Given the description of an element on the screen output the (x, y) to click on. 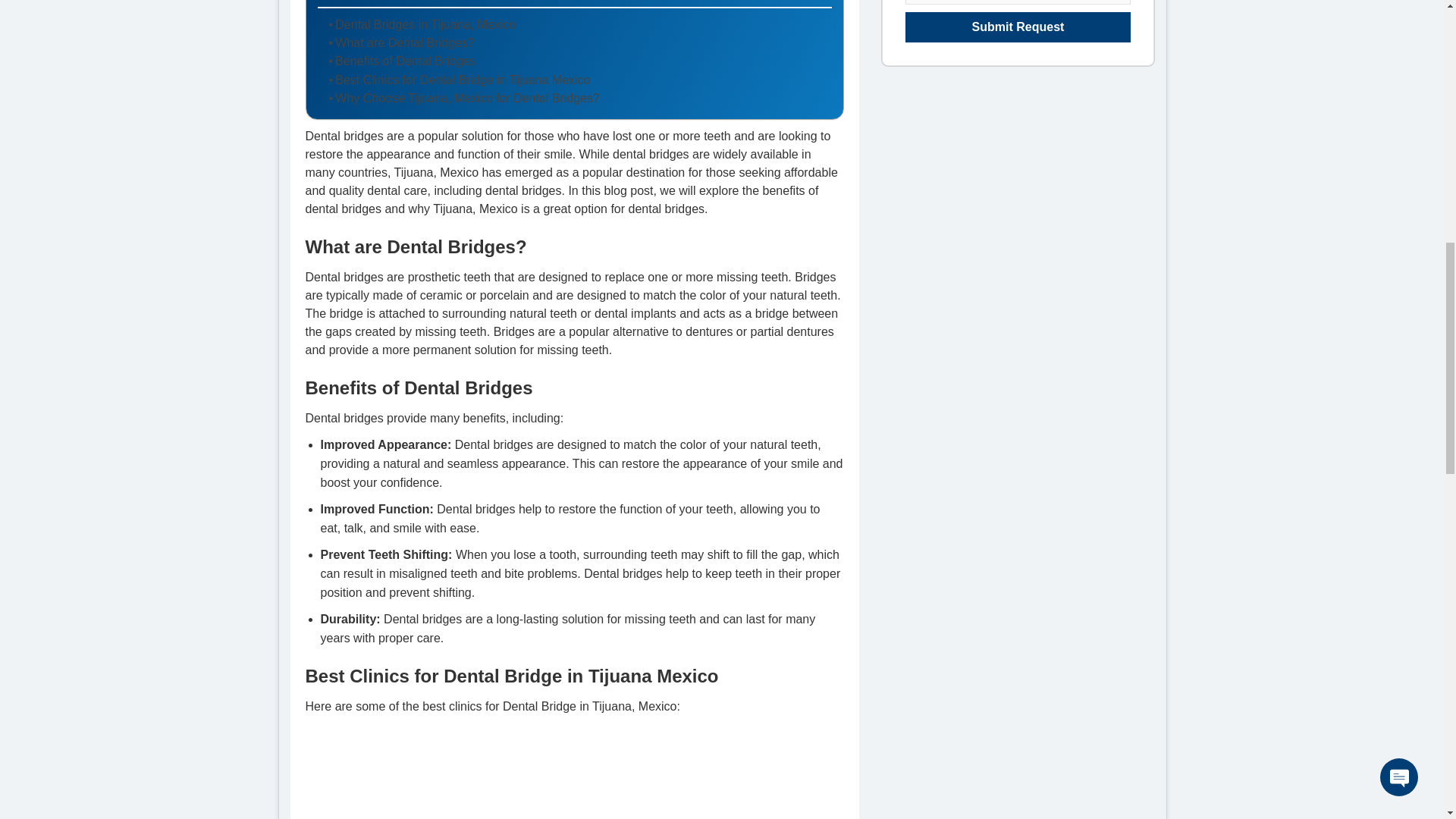
Benefits of Dental Bridges (402, 61)
Why Choose Tijuana, Mexico for Dental Bridges? (464, 98)
Best Clinics for Dental Bridge in Tijuana Mexico (460, 80)
What are Dental Bridges? (401, 43)
Dental Bridges in Tijuana, Mexico (422, 24)
